Given the description of an element on the screen output the (x, y) to click on. 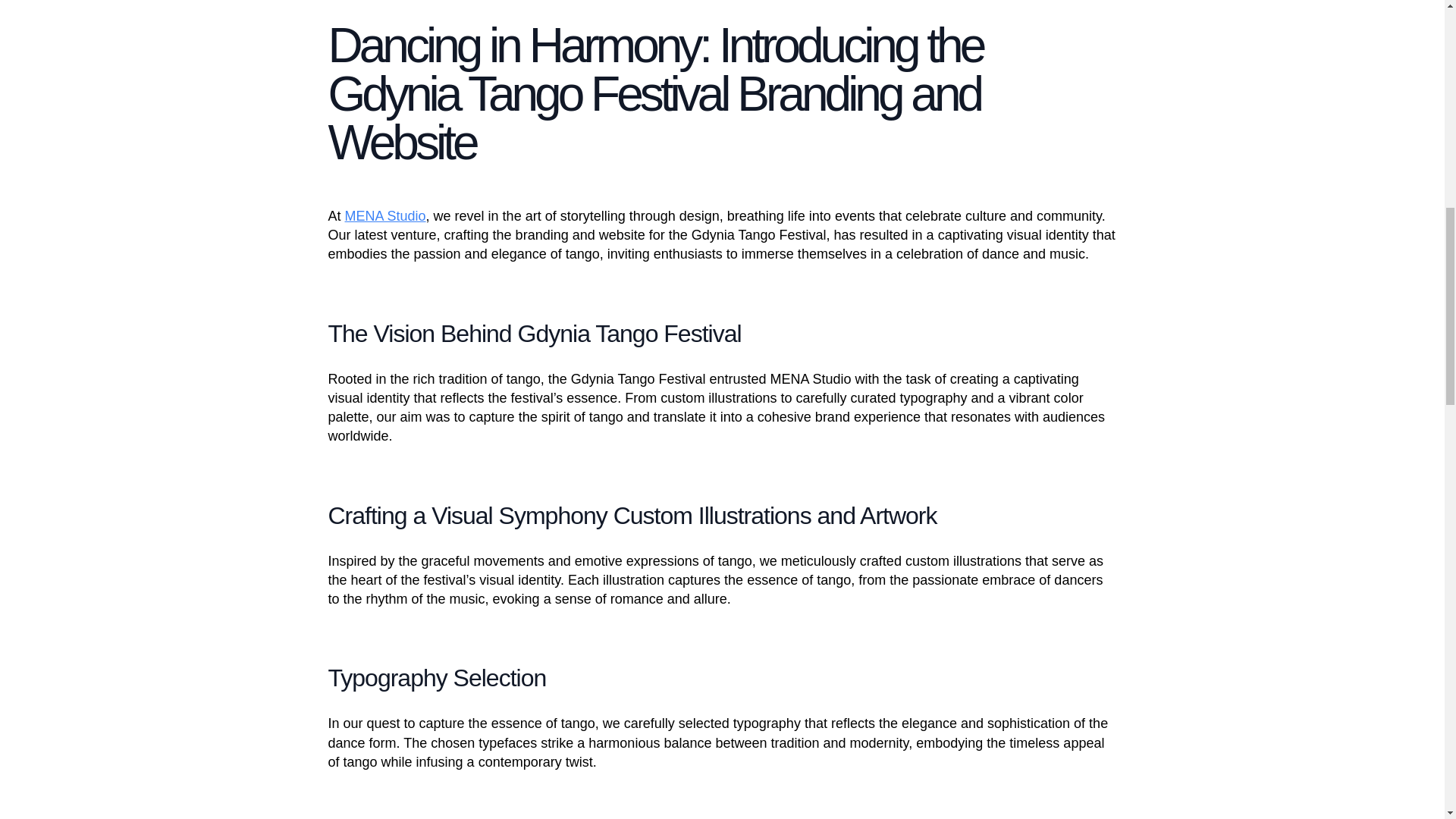
MENA Studio (385, 215)
